Given the description of an element on the screen output the (x, y) to click on. 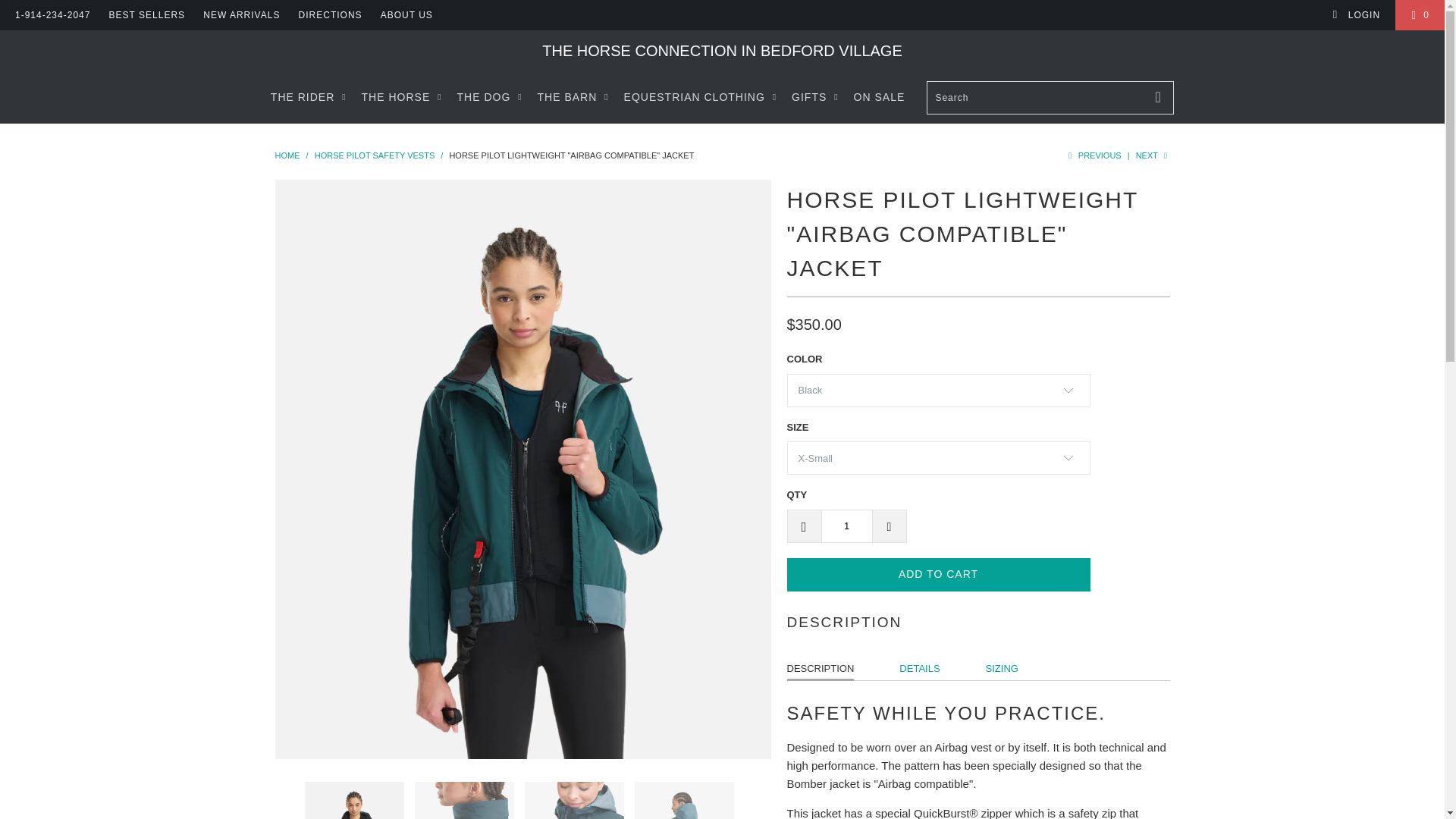
My Account  (1355, 15)
1 (846, 525)
Previous (1092, 154)
The Horse Connection In Bedford Village (287, 154)
Next (1152, 154)
Horse Pilot Safety Vests (374, 154)
